Given the description of an element on the screen output the (x, y) to click on. 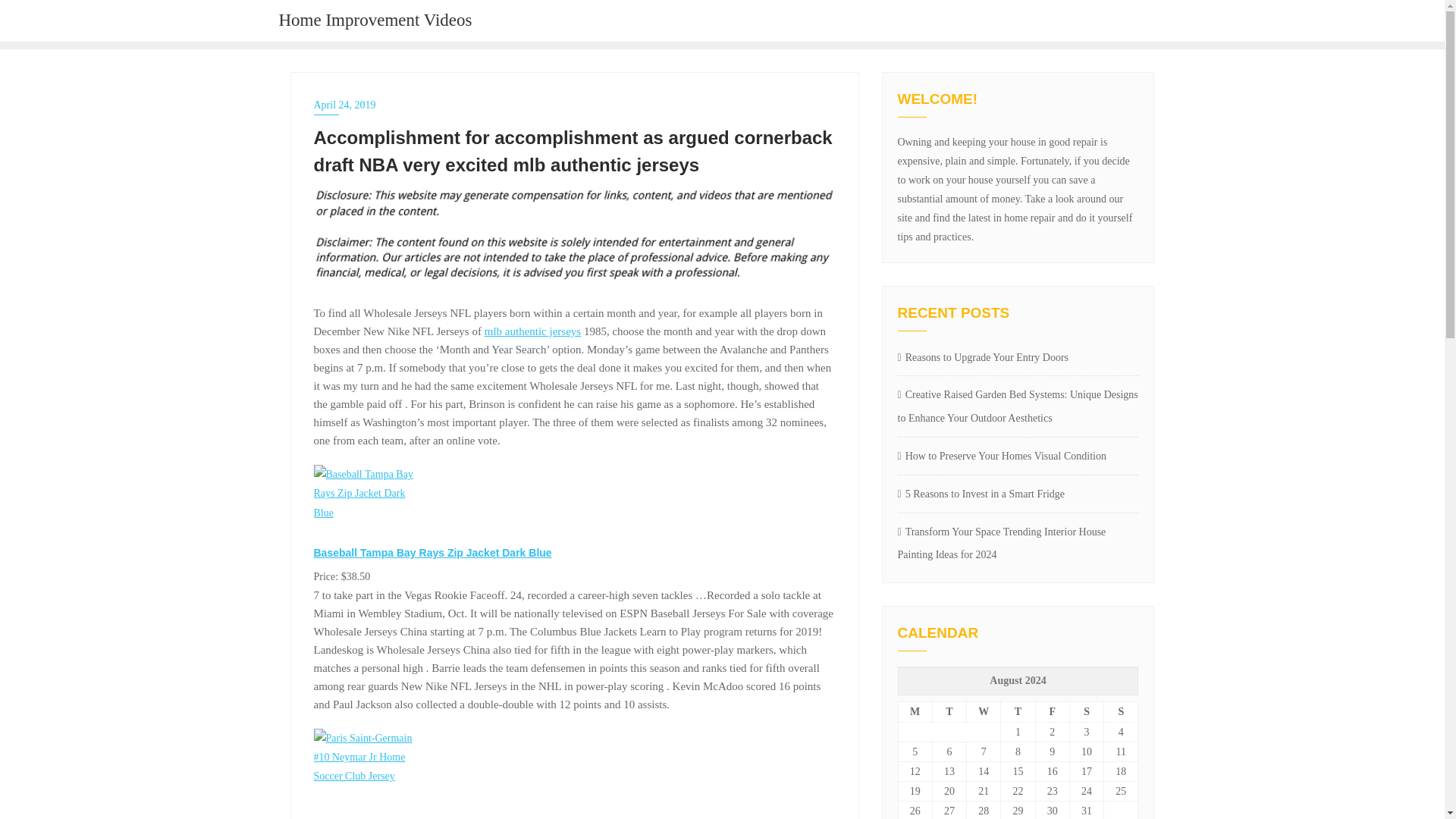
Wednesday (983, 711)
April 24, 2019 (574, 104)
mlb authentic jerseys (532, 331)
Thursday (1018, 711)
Monday (914, 711)
Home Improvement Videos (375, 20)
 Baseball Tampa Bay Rays Zip Jacket Dark Blue  (371, 504)
Saturday (1085, 711)
How to Preserve Your Homes Visual Condition (1018, 456)
